Given the description of an element on the screen output the (x, y) to click on. 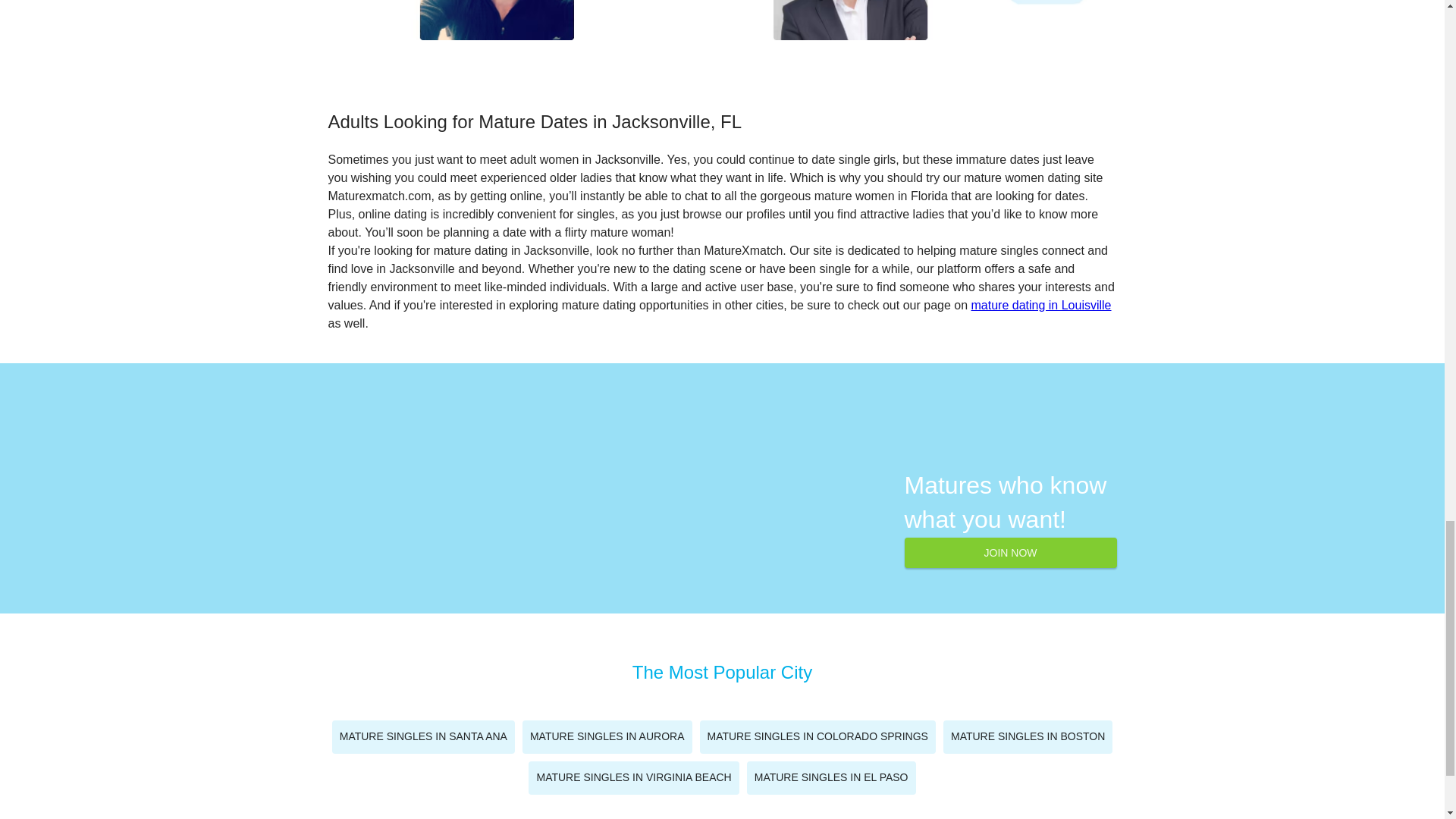
Mature Singles in Aurora (607, 736)
mature dating in Louisville (1041, 305)
MATURE SINGLES IN SANTA ANA (423, 736)
MATURE SINGLES IN BOSTON (1027, 736)
Mature singles in Santa Ana (423, 736)
Mature singles in Virginia Beach (633, 777)
Mature singles in Colorado Springs (816, 736)
MATURE SINGLES IN AURORA (607, 736)
MATURE SINGLES IN EL PASO (830, 777)
Mature singles in El Paso (830, 777)
